Given the description of an element on the screen output the (x, y) to click on. 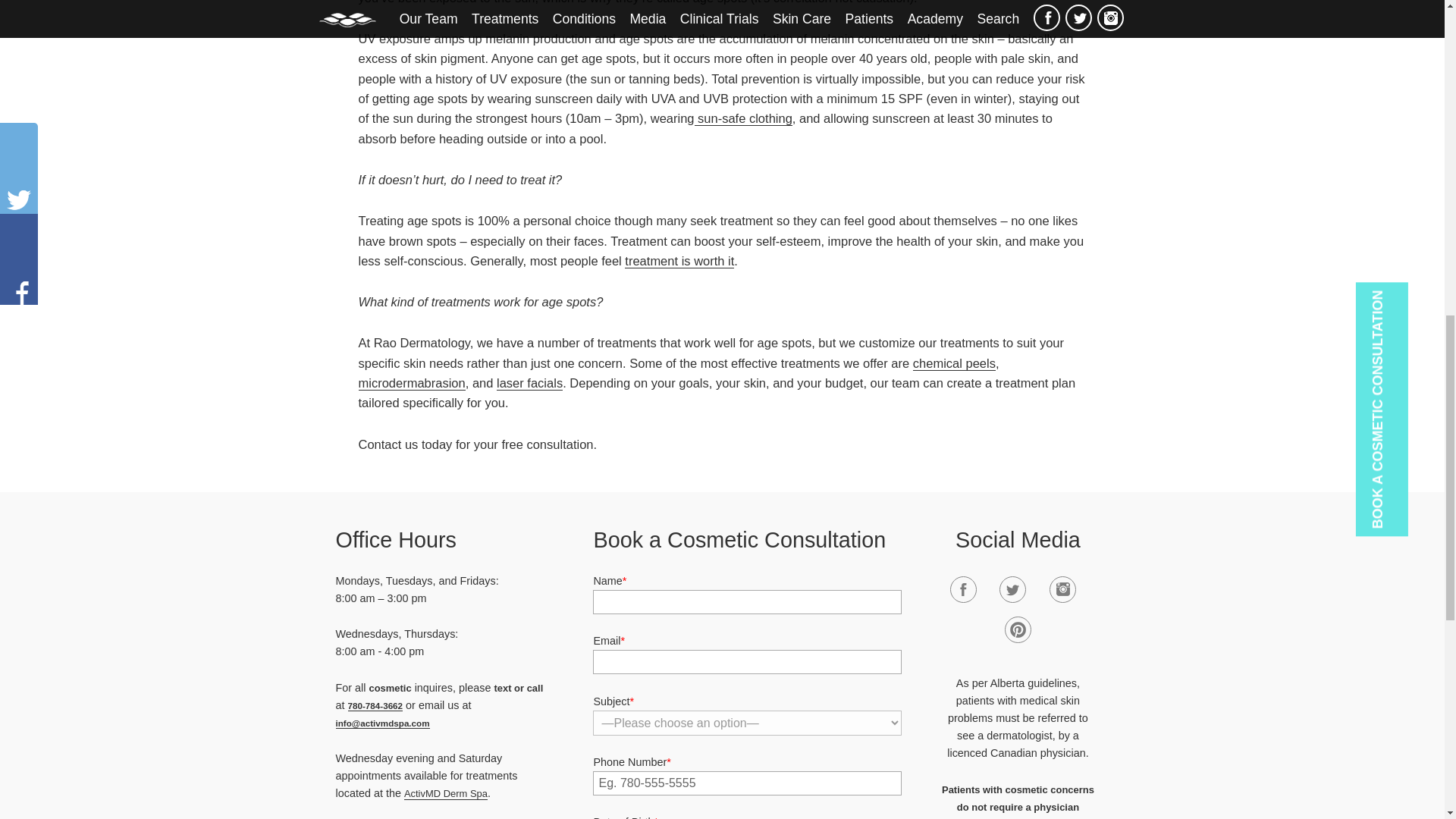
sun-safe clothing (743, 118)
Twitter (1012, 589)
Facebook (963, 589)
Pinterest (1017, 629)
treatment is worth it (678, 260)
chemical peels (953, 363)
laser facials (529, 382)
microdermabrasion (411, 382)
Instagram (1062, 589)
